Given the description of an element on the screen output the (x, y) to click on. 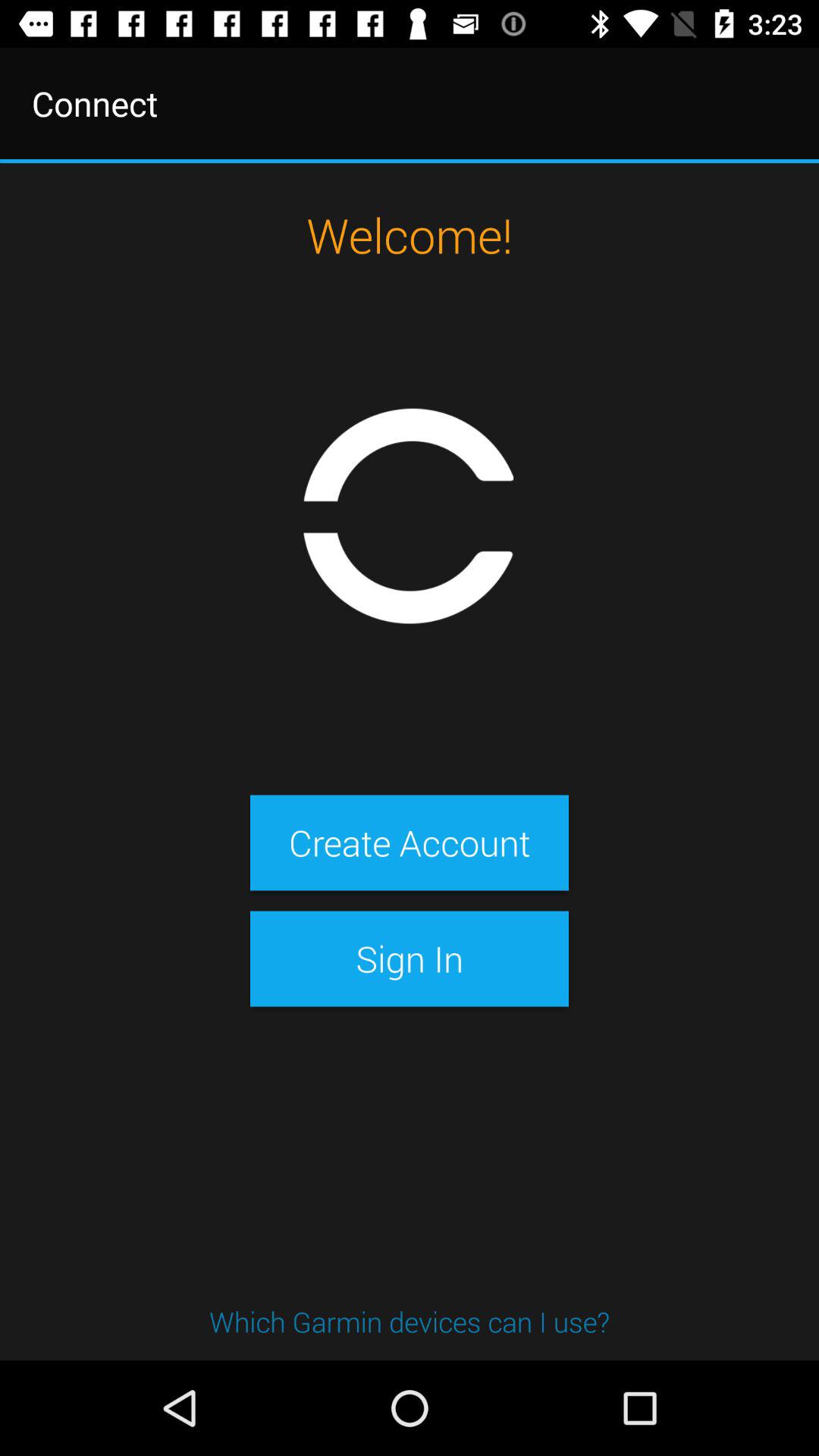
turn off the item above sign in item (409, 842)
